Given the description of an element on the screen output the (x, y) to click on. 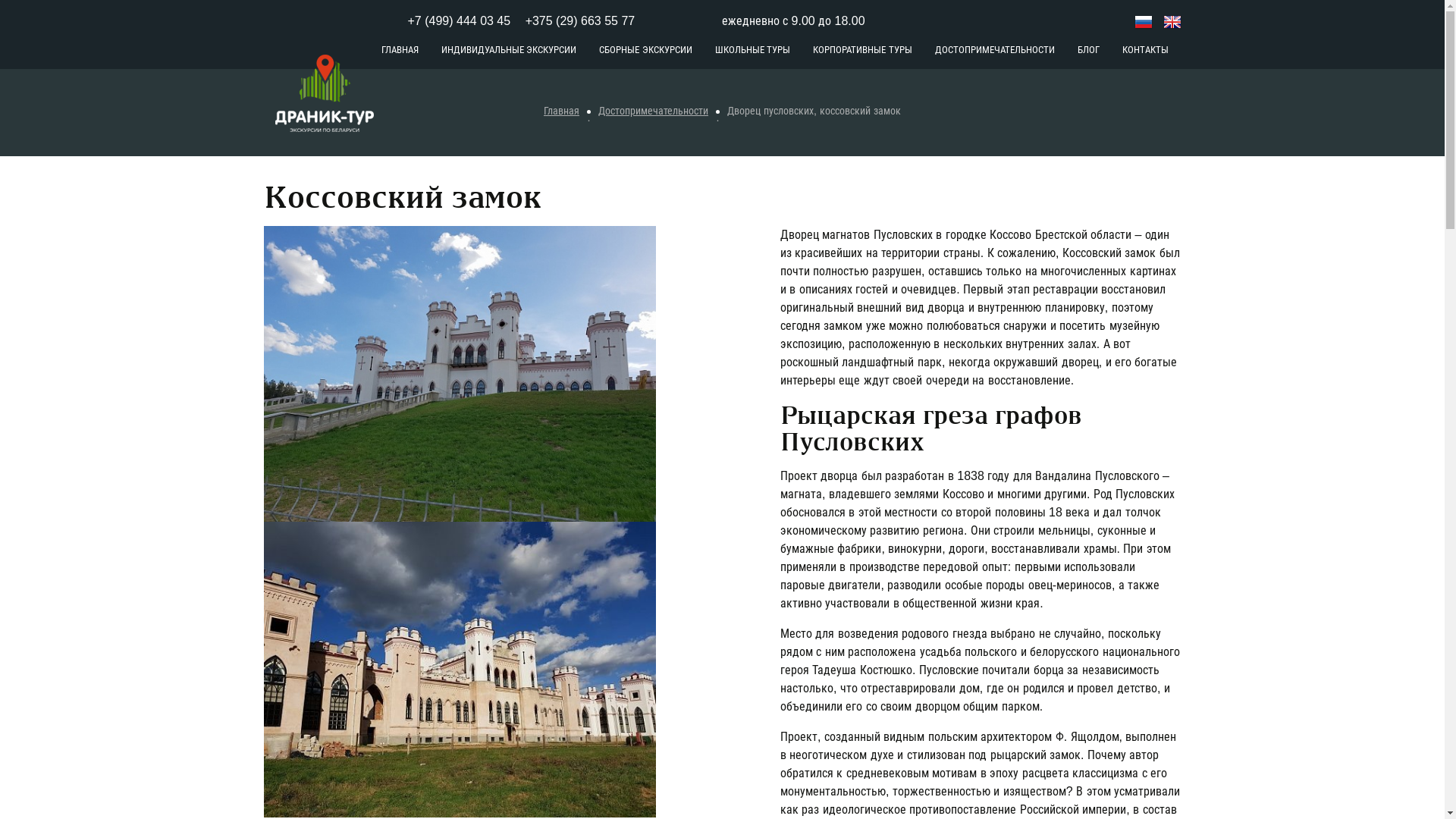
+7 (499) 444 03 45 Element type: text (459, 20)
+375 (29) 663 55 77 Element type: text (602, 20)
